Given the description of an element on the screen output the (x, y) to click on. 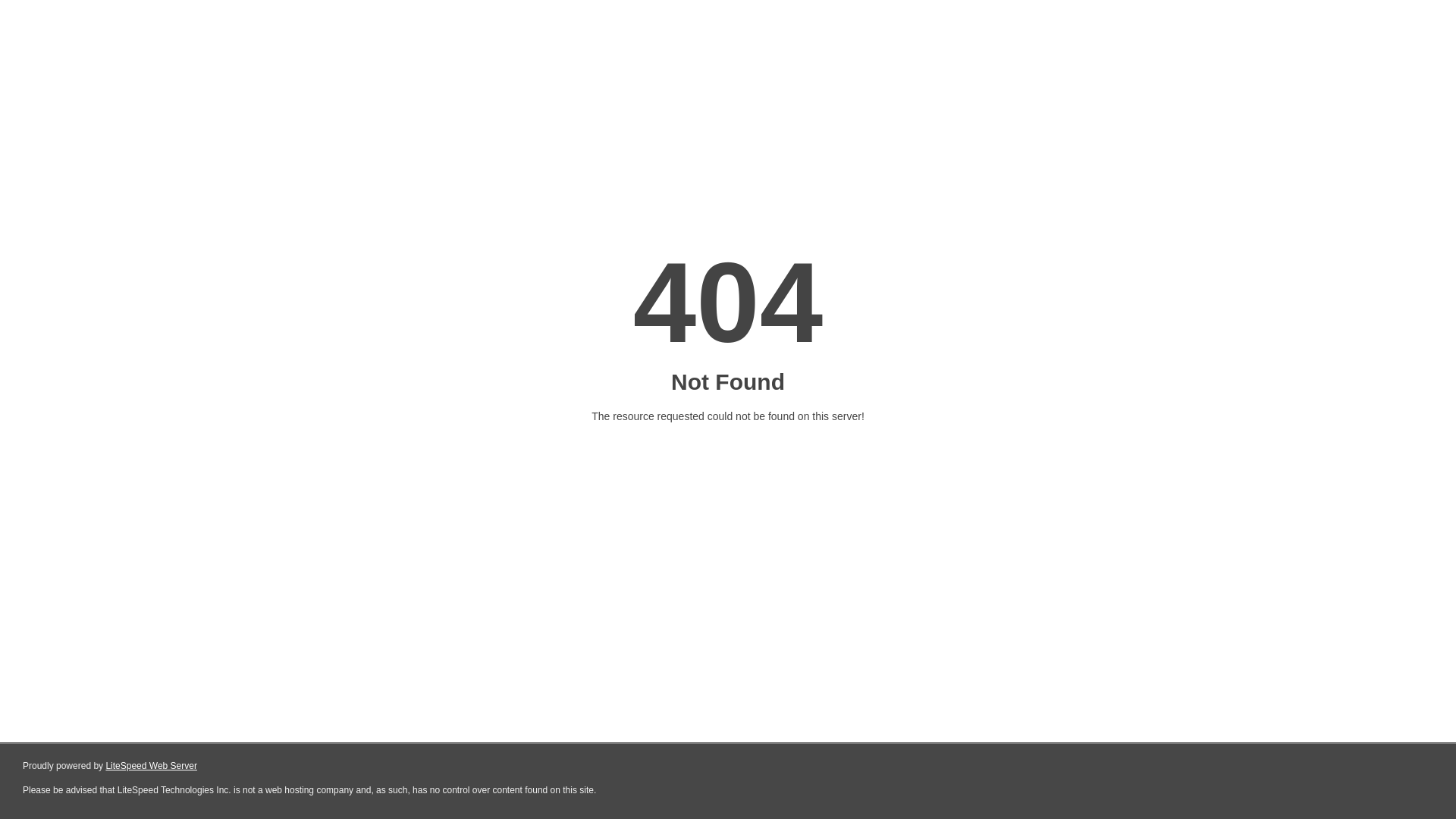
LiteSpeed Web Server Element type: text (151, 765)
